Given the description of an element on the screen output the (x, y) to click on. 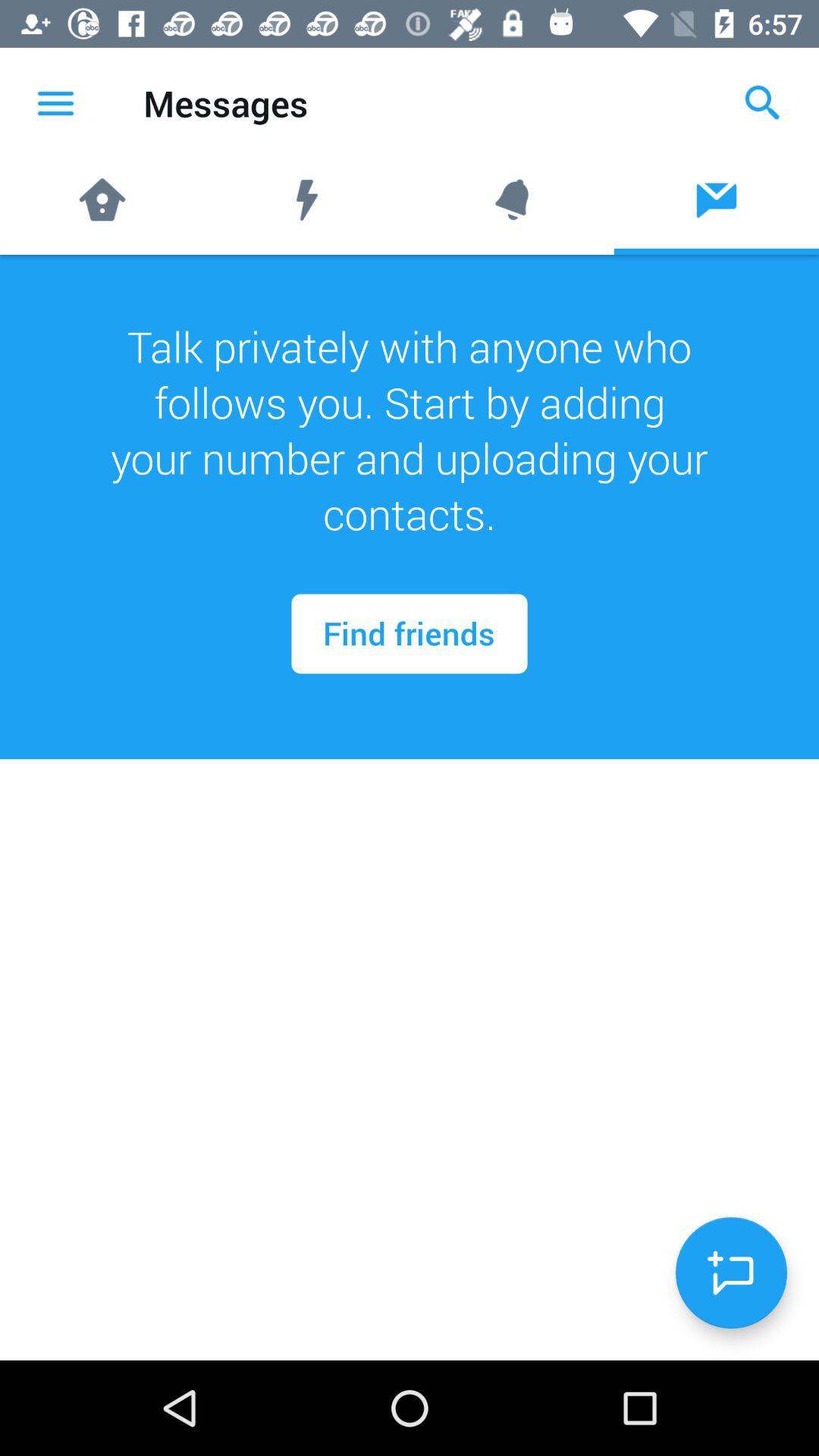
swipe to the talk privately with item (409, 430)
